Given the description of an element on the screen output the (x, y) to click on. 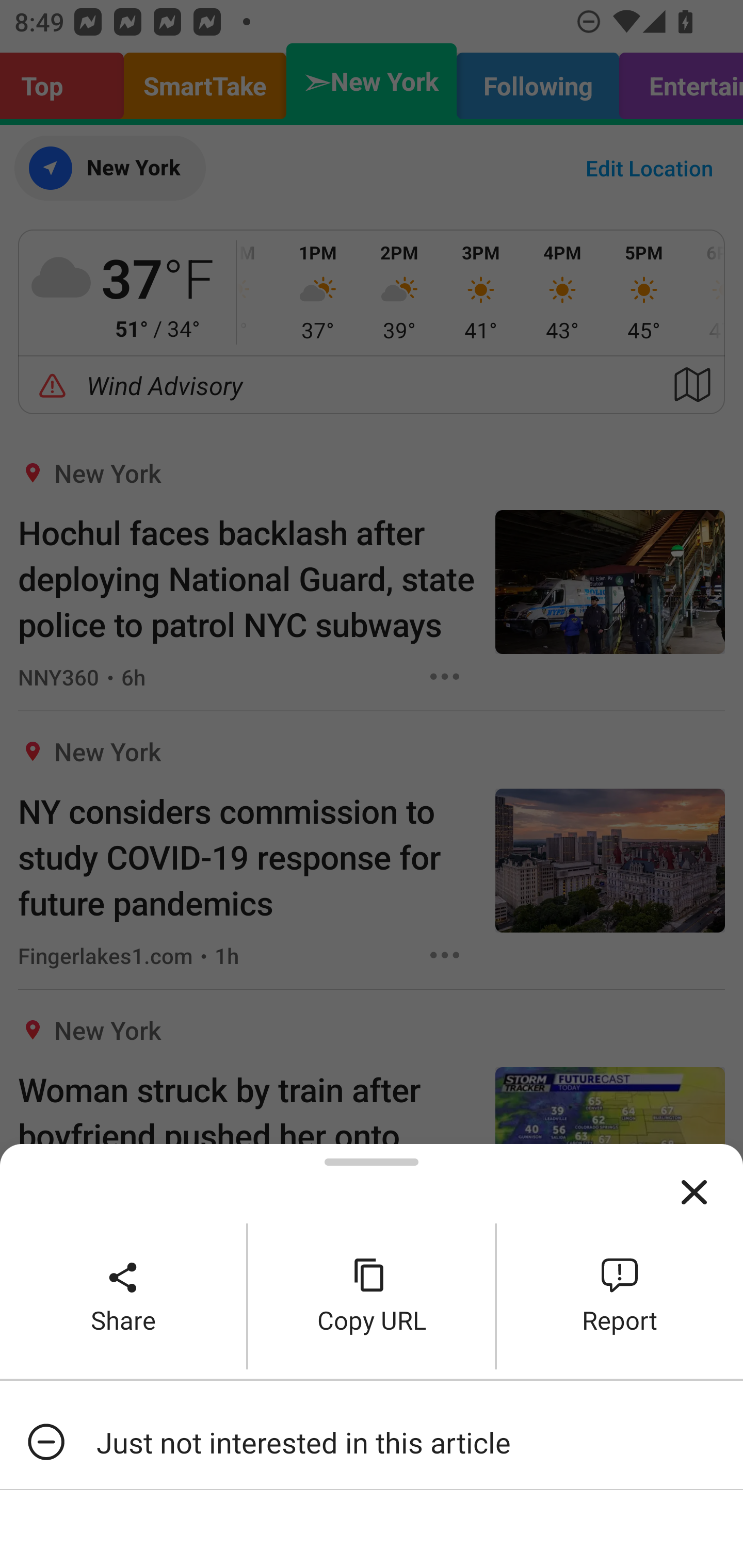
Close (694, 1192)
Share (122, 1295)
Copy URL (371, 1295)
Report (620, 1295)
Just not interested in this article (371, 1442)
